Given the description of an element on the screen output the (x, y) to click on. 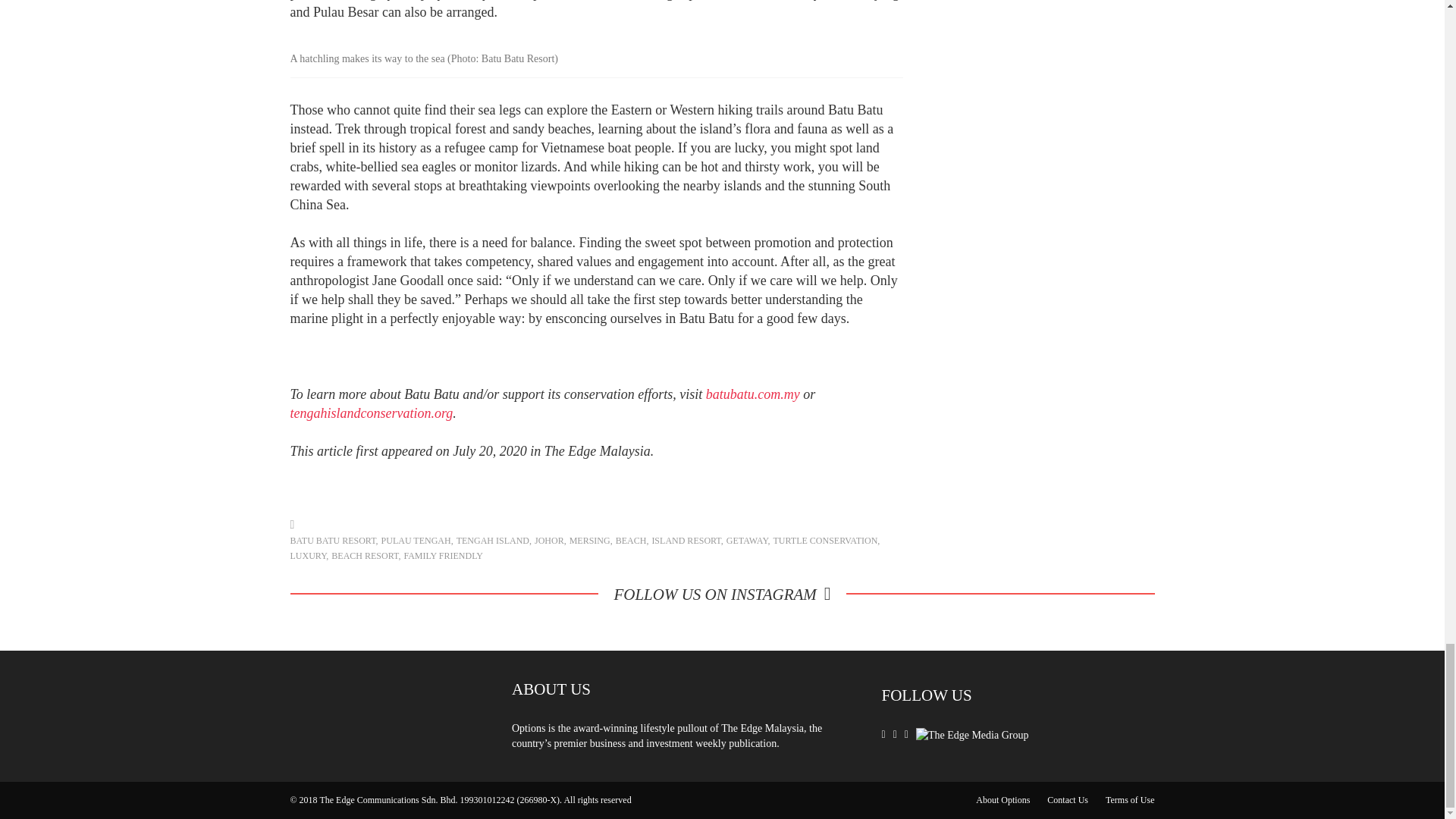
ISLAND RESORT (685, 540)
BEACH (630, 540)
batubatu.com.my (752, 394)
tengahislandconservation.org (370, 412)
JOHOR (549, 540)
TENGAH ISLAND (493, 540)
MERSING (589, 540)
BATU BATU RESORT (332, 540)
PULAU TENGAH (416, 540)
GETAWAY (747, 540)
